Given the description of an element on the screen output the (x, y) to click on. 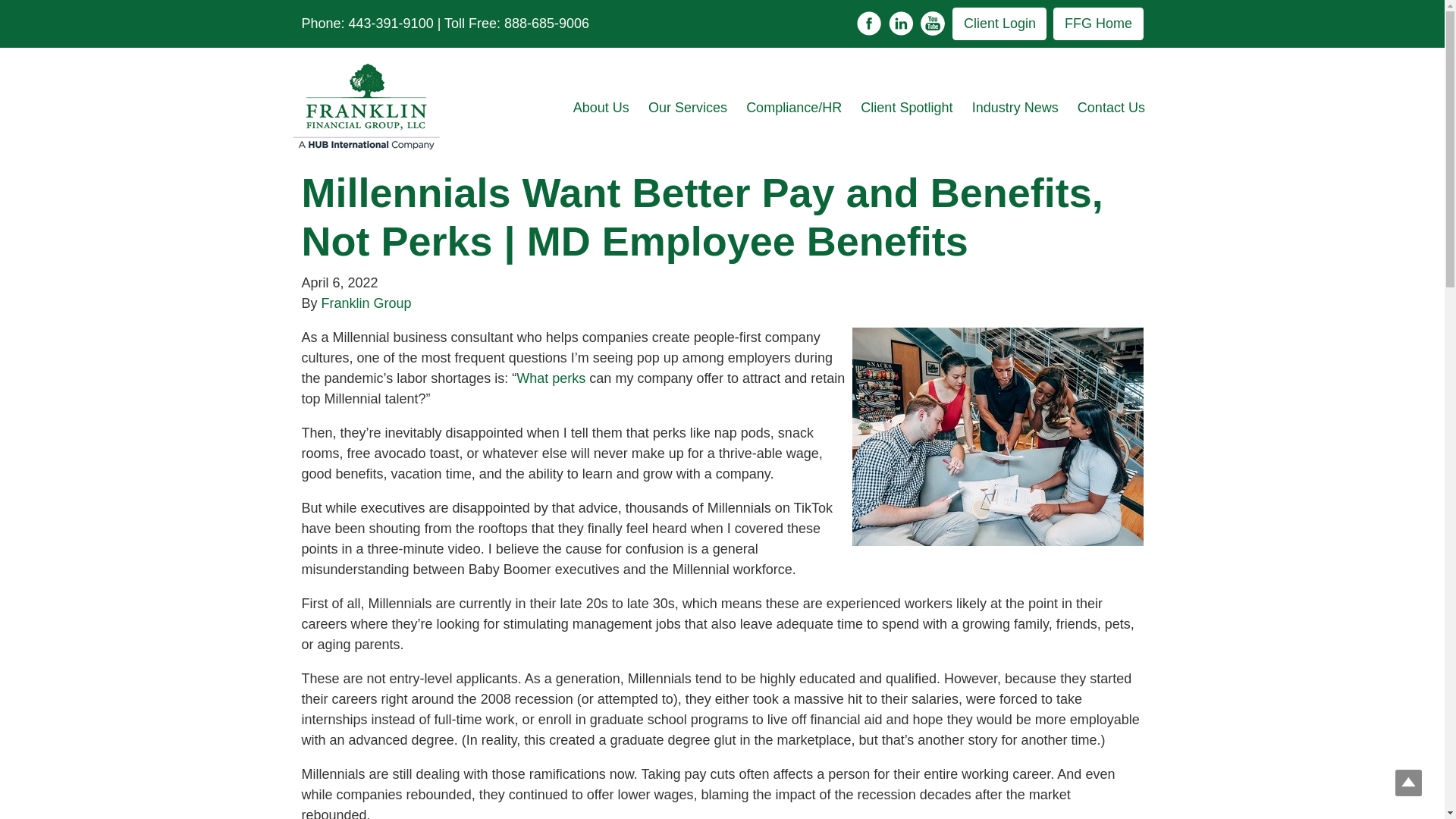
What perks (550, 378)
Contact Us (1110, 107)
Our Services (687, 107)
Client Spotlight (906, 107)
About Us (601, 107)
Client Spotlight (906, 107)
Contact Us (1110, 107)
FFG Home (1097, 23)
Client Login (999, 23)
About Us (601, 107)
Our Services (687, 107)
Franklin Group (366, 303)
Top (1408, 782)
Industry News (1014, 107)
Scroll to Top (1408, 782)
